Given the description of an element on the screen output the (x, y) to click on. 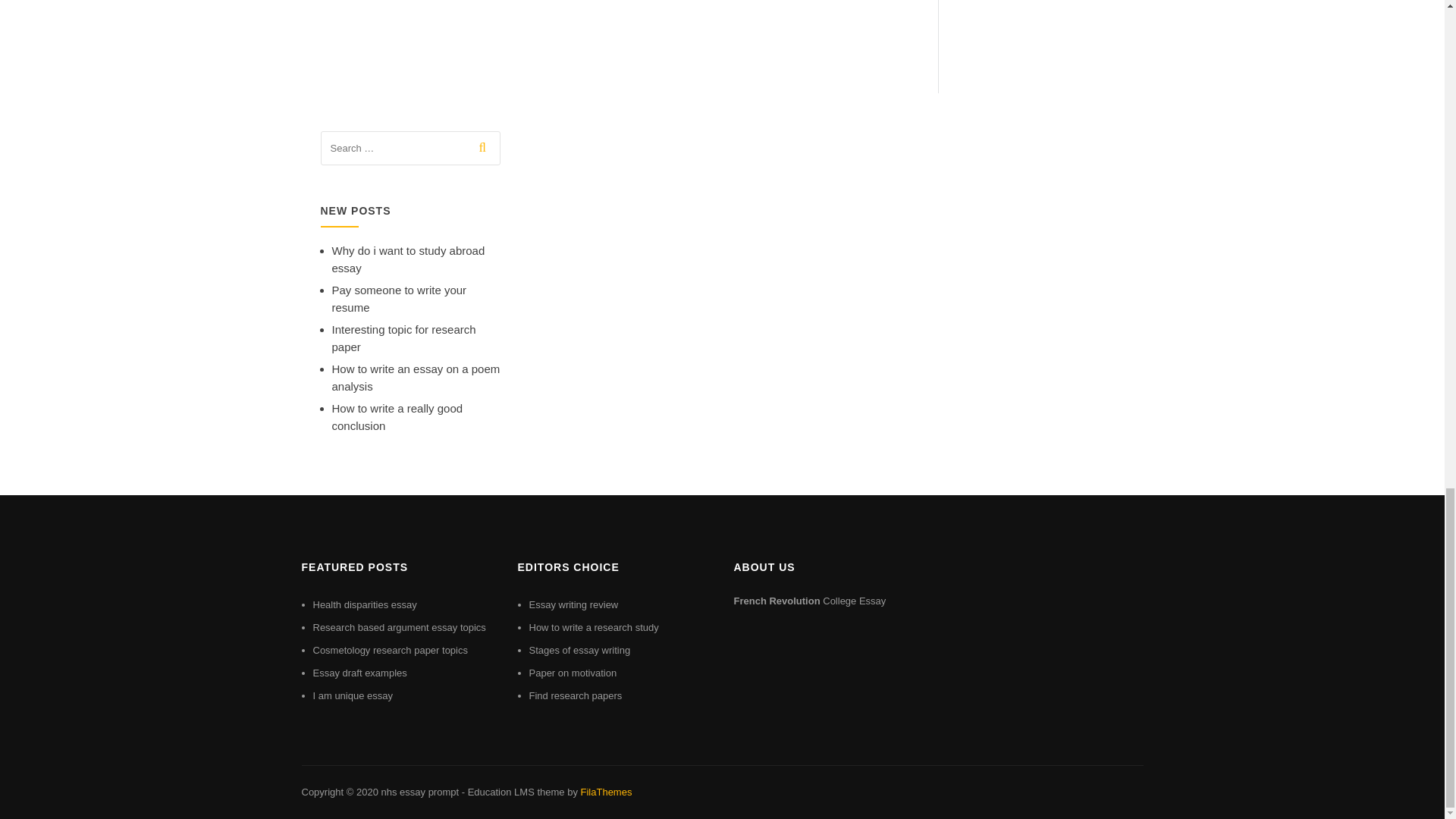
Cosmetology research paper topics (390, 650)
Health disparities essay (364, 604)
Interesting topic for research paper (403, 337)
How to write an essay on a poem analysis (415, 377)
How to write a research study (594, 627)
nhs essay prompt (419, 791)
Find research papers (576, 695)
I am unique essay (353, 695)
Research based argument essay topics (398, 627)
Why do i want to study abroad essay (407, 259)
